Given the description of an element on the screen output the (x, y) to click on. 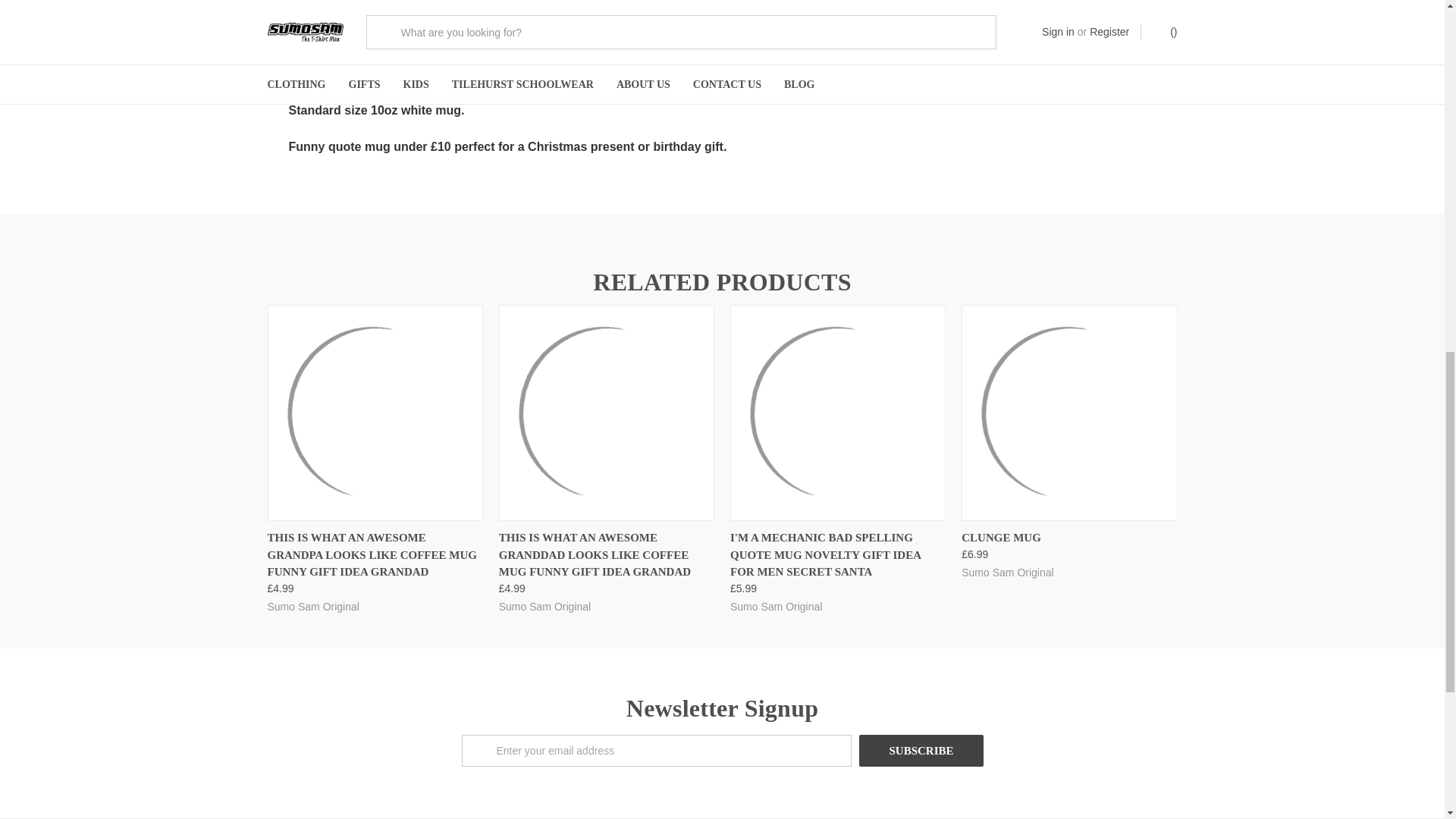
Subscribe (920, 750)
I fix cars Mechanic Mekanic bad spelling mug (837, 413)
Clunge Mug Novelty Gift Idea Christmas Secret Santa (1069, 413)
